Given the description of an element on the screen output the (x, y) to click on. 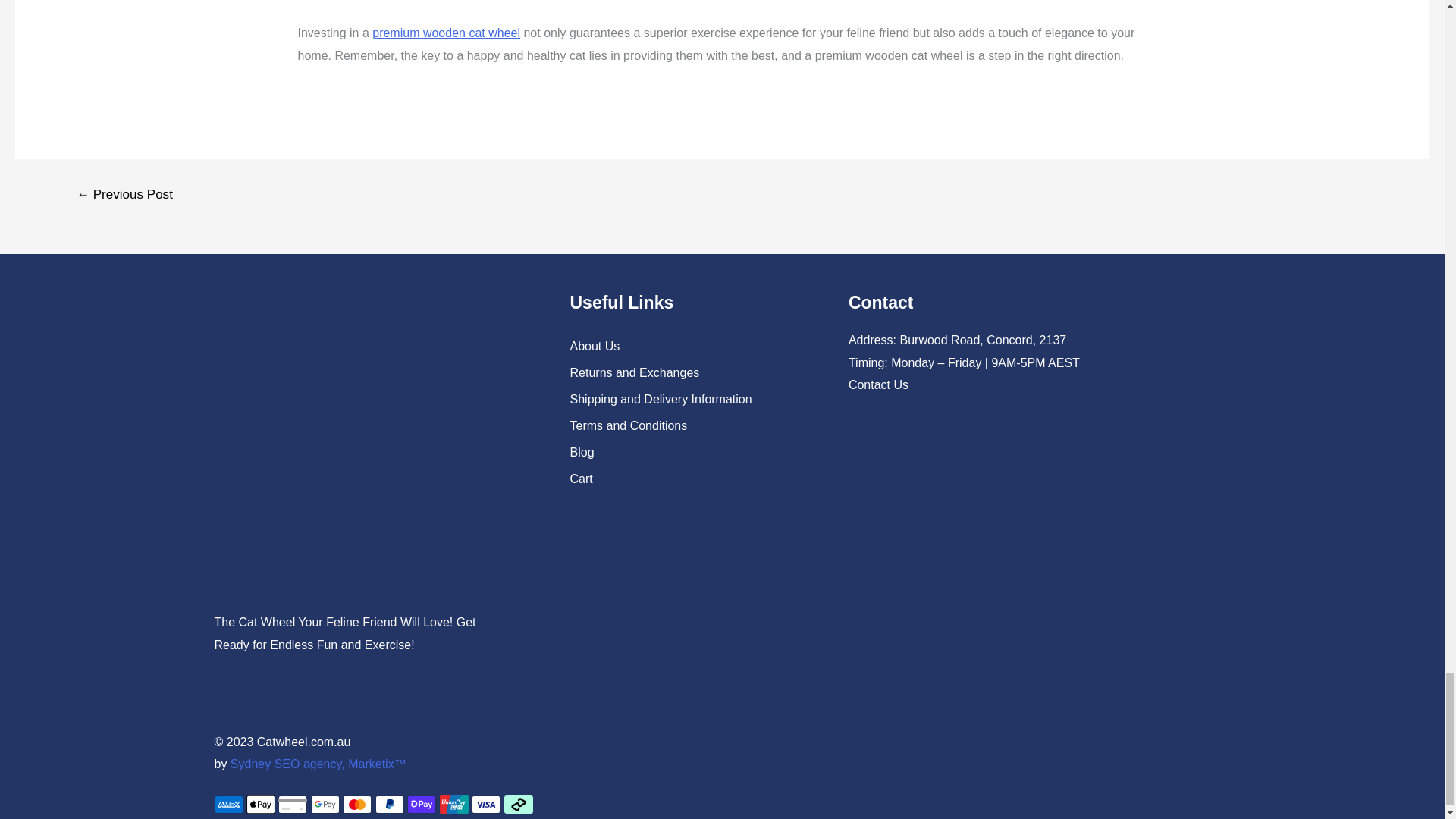
Terms and Conditions (686, 425)
Apple Pay (260, 804)
Mastercard (356, 804)
premium wooden cat wheel (445, 32)
About Us (686, 346)
Shipping and Delivery Information (686, 399)
Contact Us (878, 384)
Blog (686, 452)
Shop Pay (421, 804)
Union Pay (453, 804)
Visa (485, 804)
PayPal (389, 804)
Cart (686, 478)
Generic (292, 804)
American Express (228, 804)
